Given the description of an element on the screen output the (x, y) to click on. 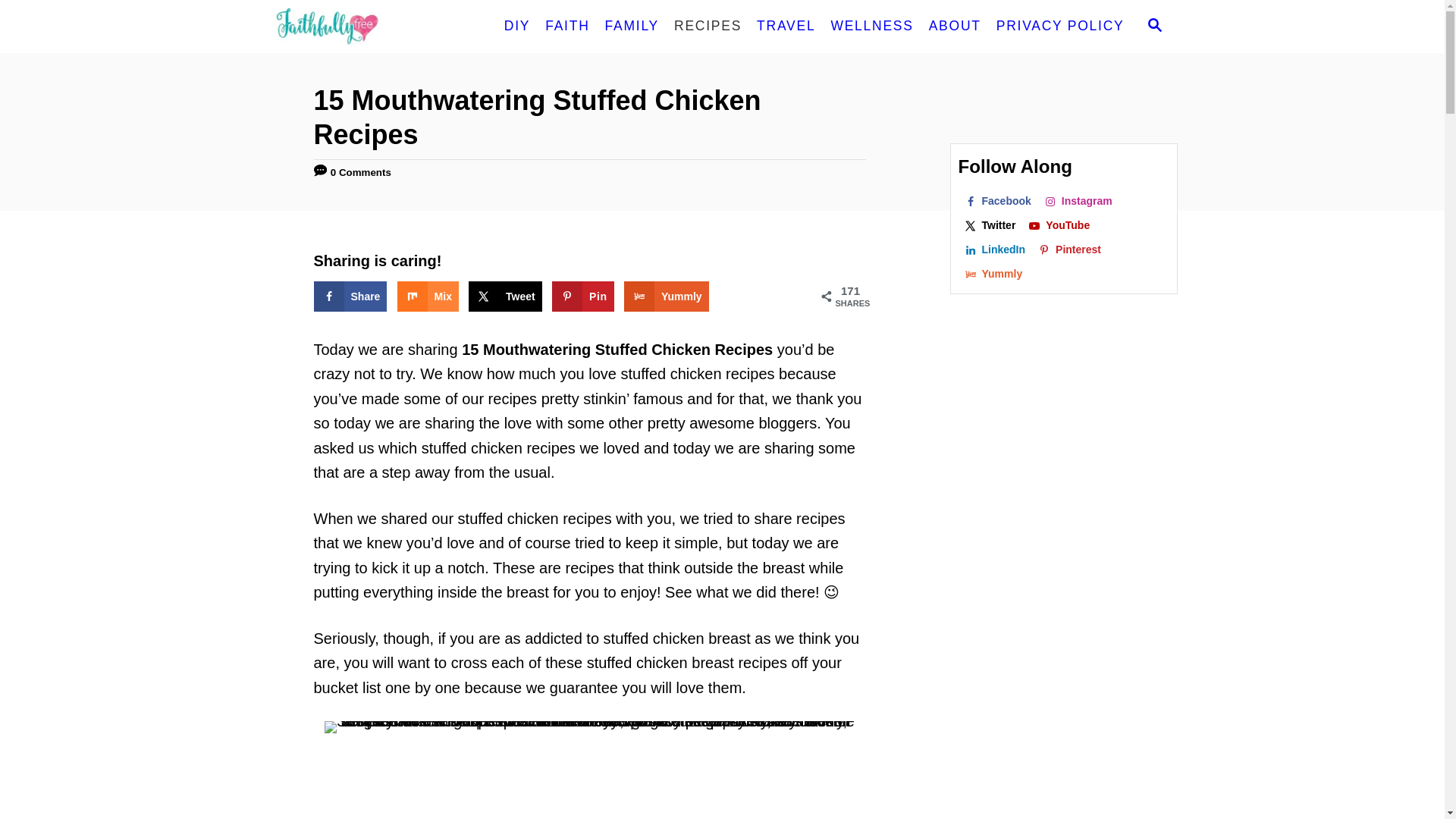
SEARCH (1153, 26)
Faithfully Free (380, 26)
Follow on Facebook (998, 200)
Follow on X (990, 224)
Share on X (504, 296)
DIY (516, 26)
Share on Yummly (666, 296)
Share on Facebook (350, 296)
FAITH (566, 26)
Follow on YouTube (1059, 224)
